Given the description of an element on the screen output the (x, y) to click on. 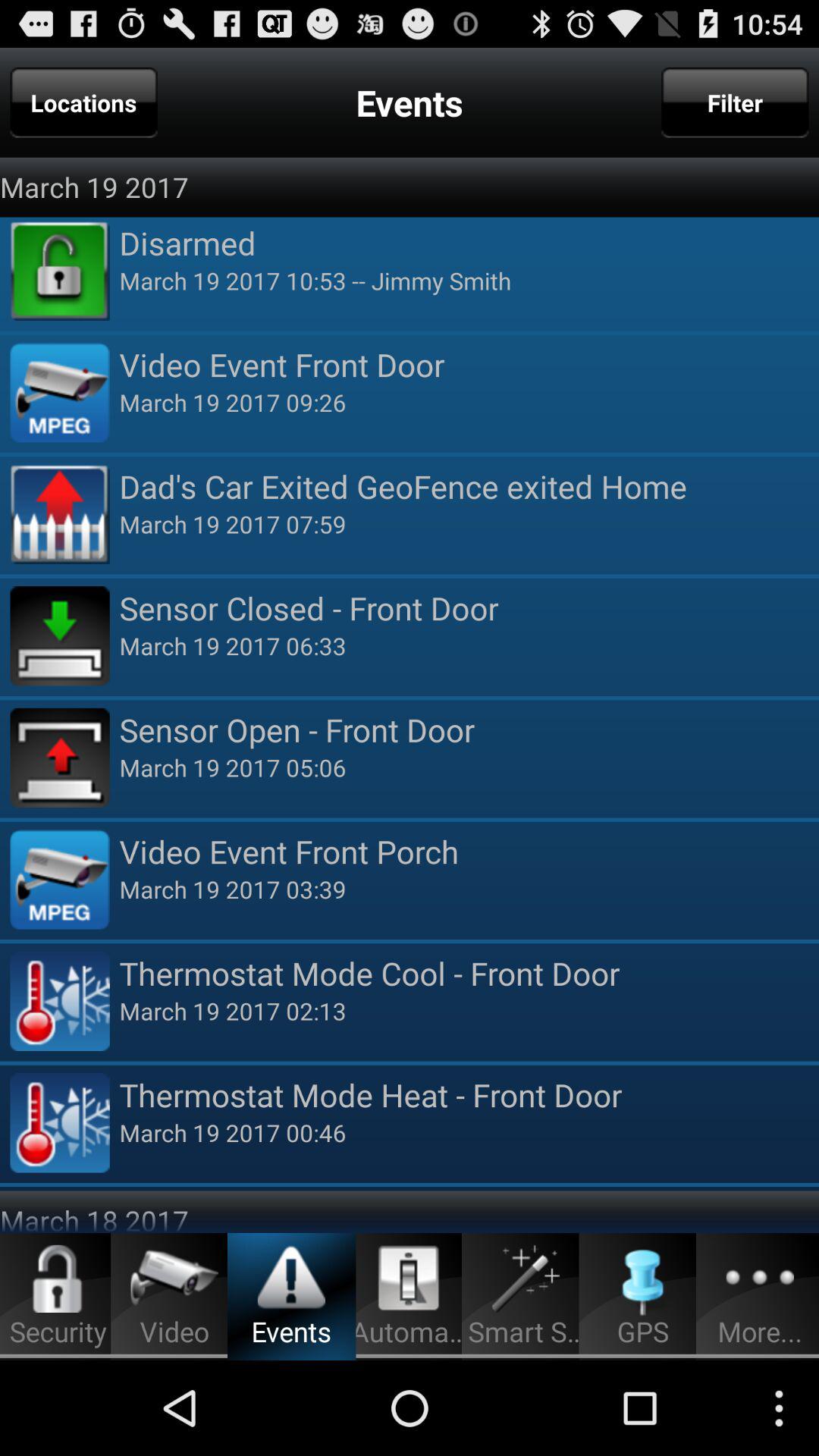
launch the disarmed app (469, 242)
